Given the description of an element on the screen output the (x, y) to click on. 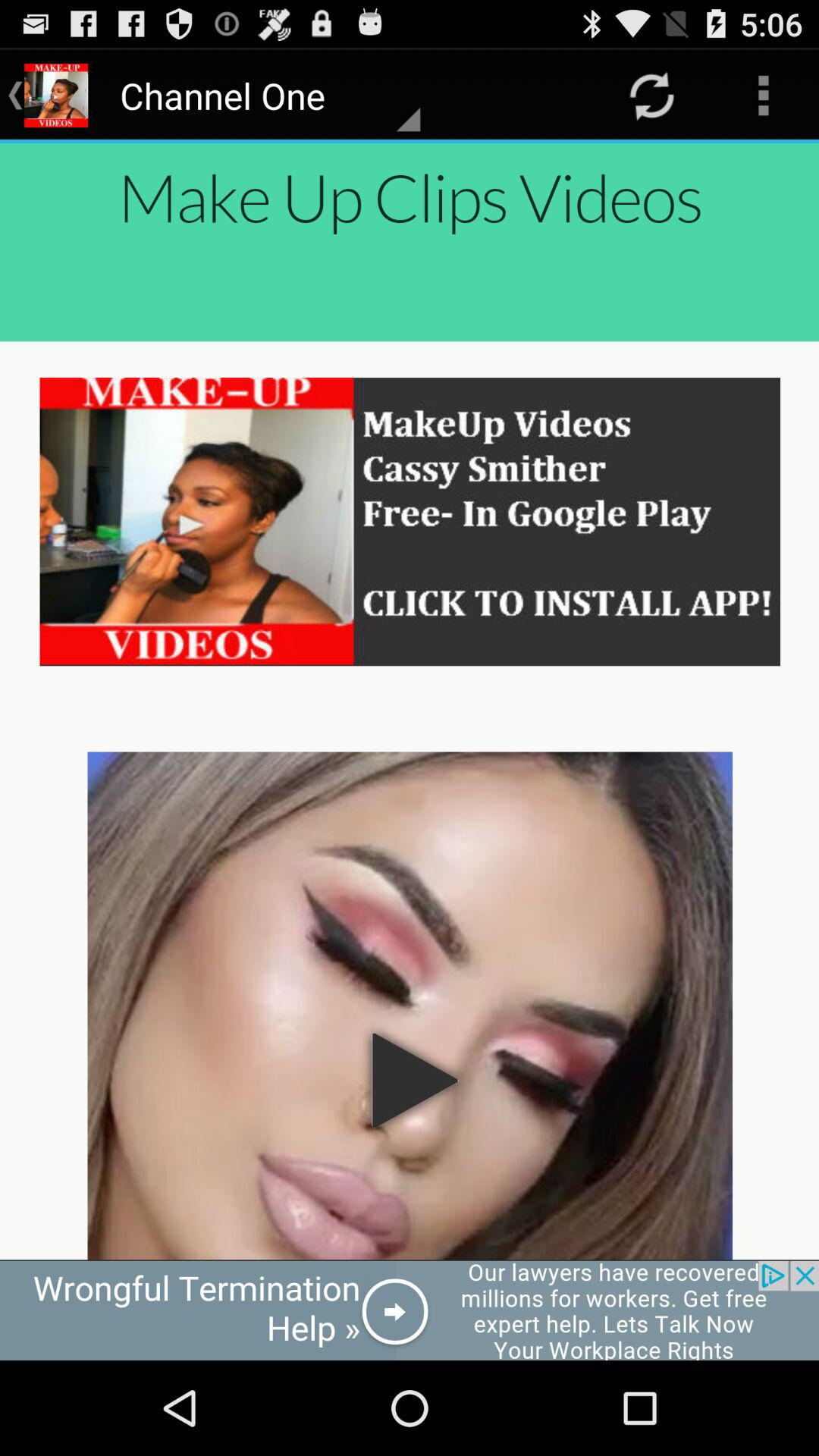
wrongful termination advertisement (409, 1310)
